Given the description of an element on the screen output the (x, y) to click on. 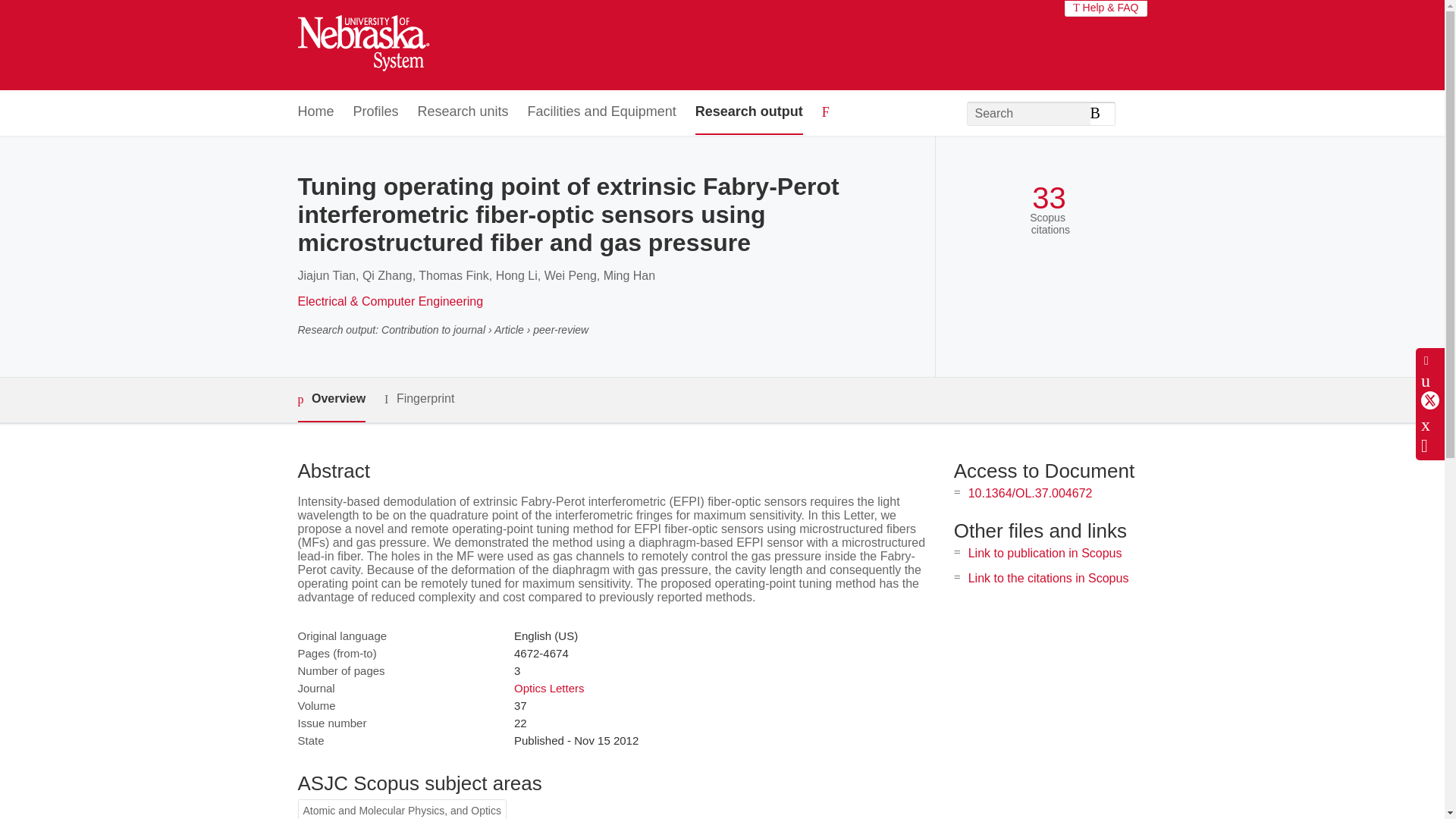
Link to publication in Scopus (1045, 553)
33 (1048, 198)
Overview (331, 399)
Research units (462, 112)
Research output (749, 112)
Optics Letters (549, 687)
Fingerprint (419, 398)
Facilities and Equipment (602, 112)
Profiles (375, 112)
Research Nebraska Home (363, 45)
